Given the description of an element on the screen output the (x, y) to click on. 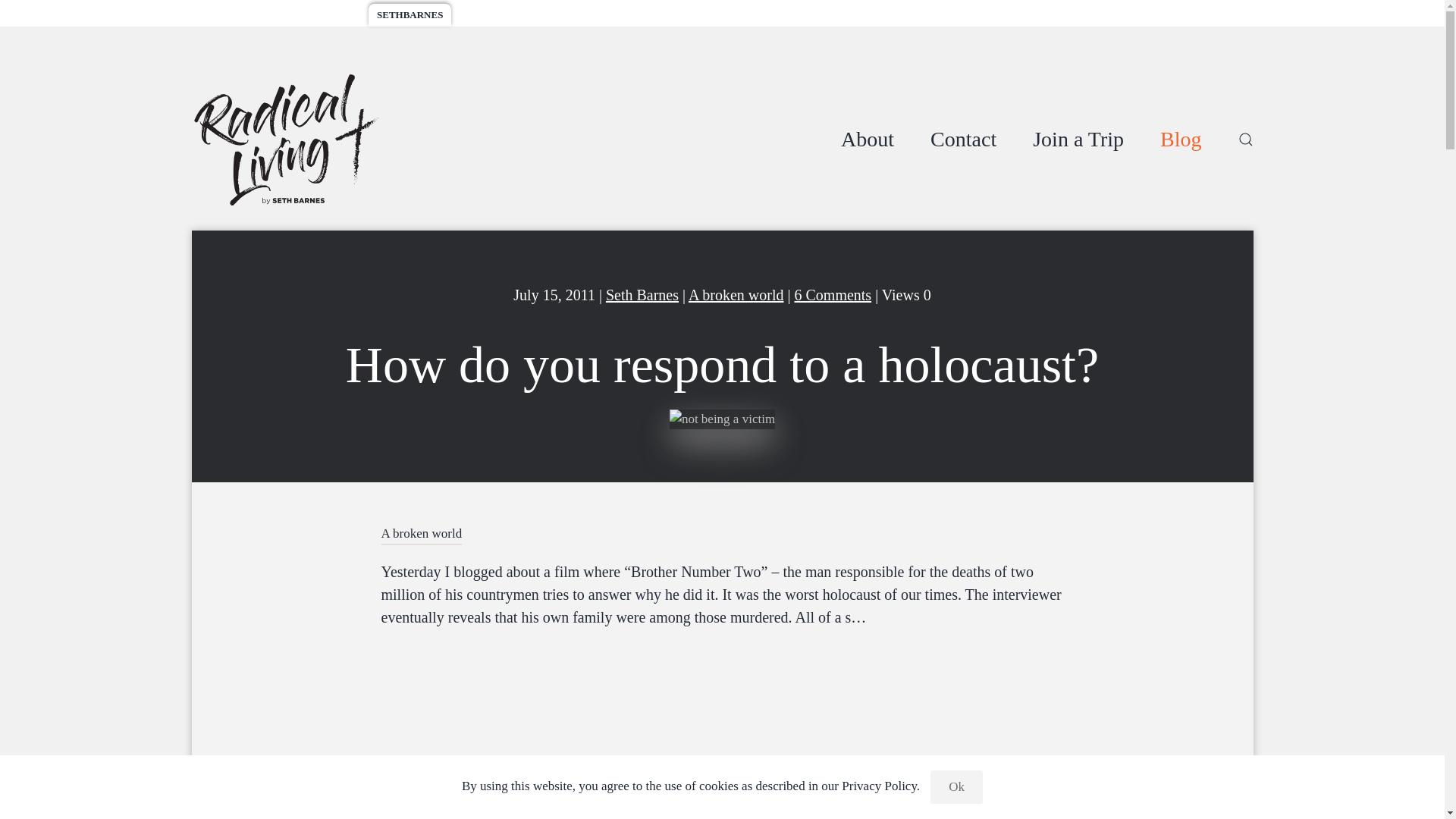
How do you respond to a holocaust? 1 (721, 419)
ADVENTURES (235, 15)
SETHBARNES (831, 294)
Contact (409, 15)
A broken world (962, 139)
A broken world (420, 534)
GIVING (721, 534)
Seth Barnes (573, 15)
Join a Trip (641, 294)
